Given the description of an element on the screen output the (x, y) to click on. 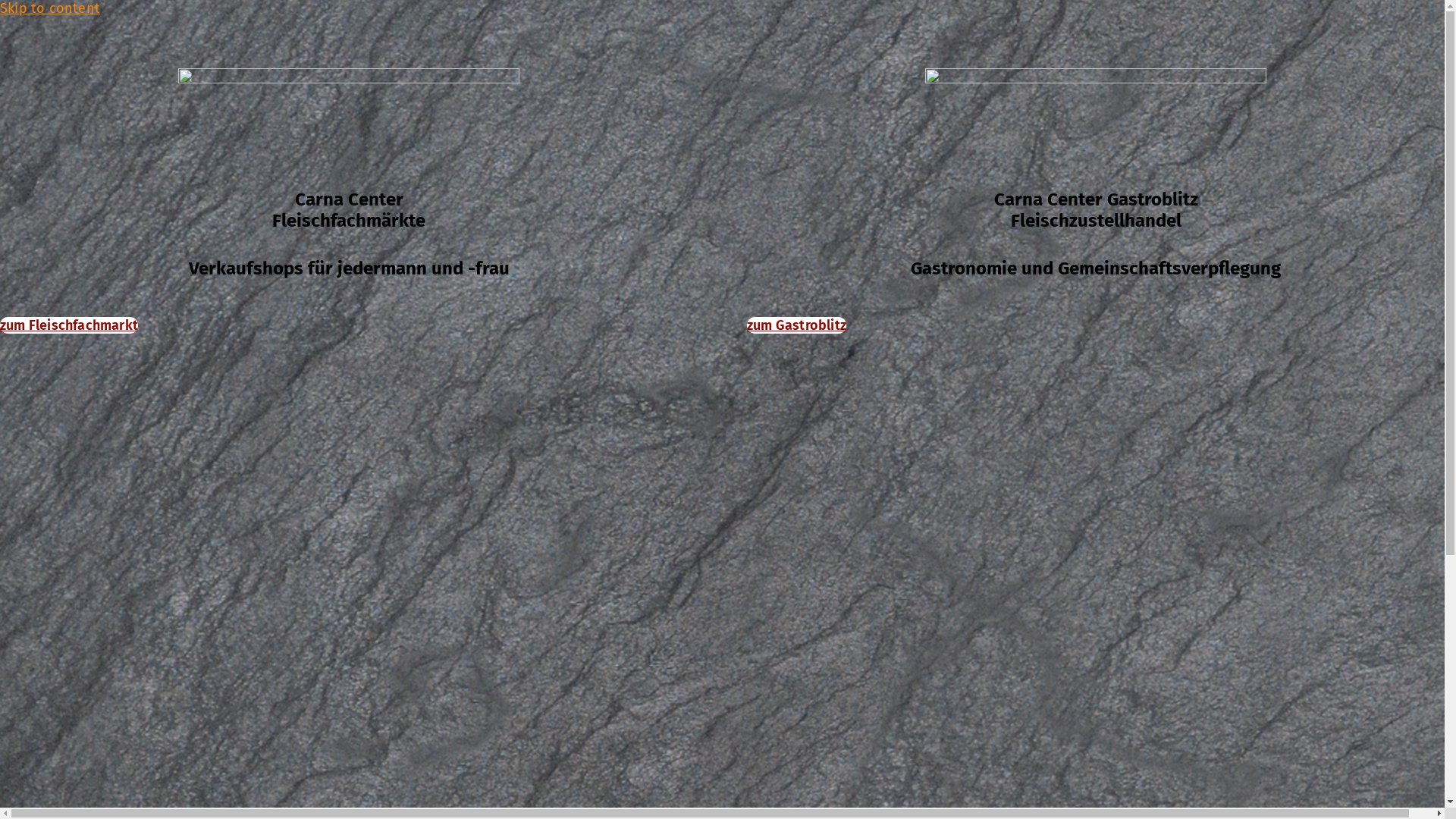
gastroblitz-450x124px Element type: hover (1095, 115)
zum Gastroblitz Element type: text (796, 324)
fleischfachmaerkte-450x124px Element type: hover (348, 115)
Skip to content Element type: text (50, 8)
zum Fleischfachmarkt Element type: text (69, 324)
